Given the description of an element on the screen output the (x, y) to click on. 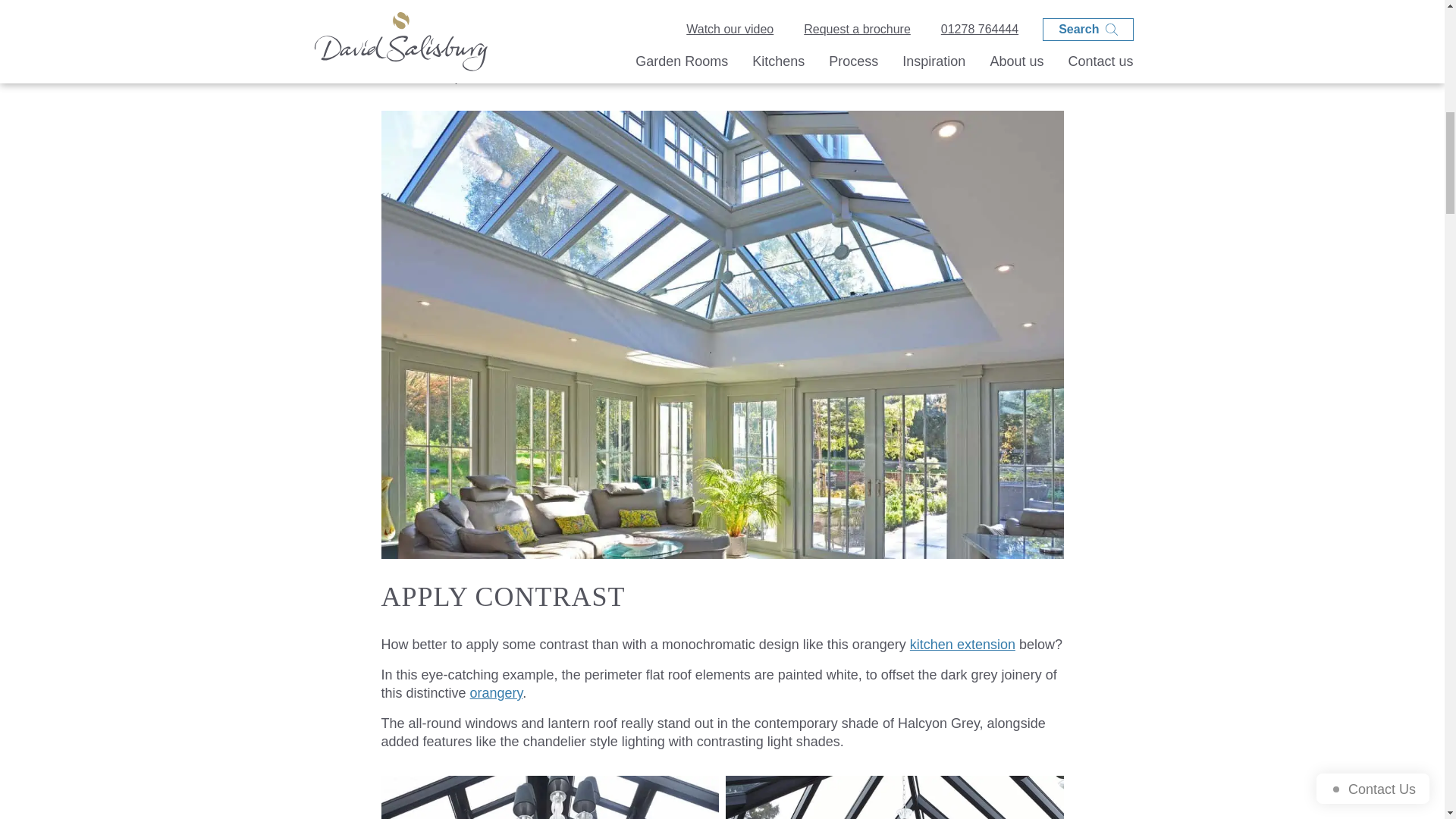
kitchen extension (962, 644)
orangery (496, 693)
